Given the description of an element on the screen output the (x, y) to click on. 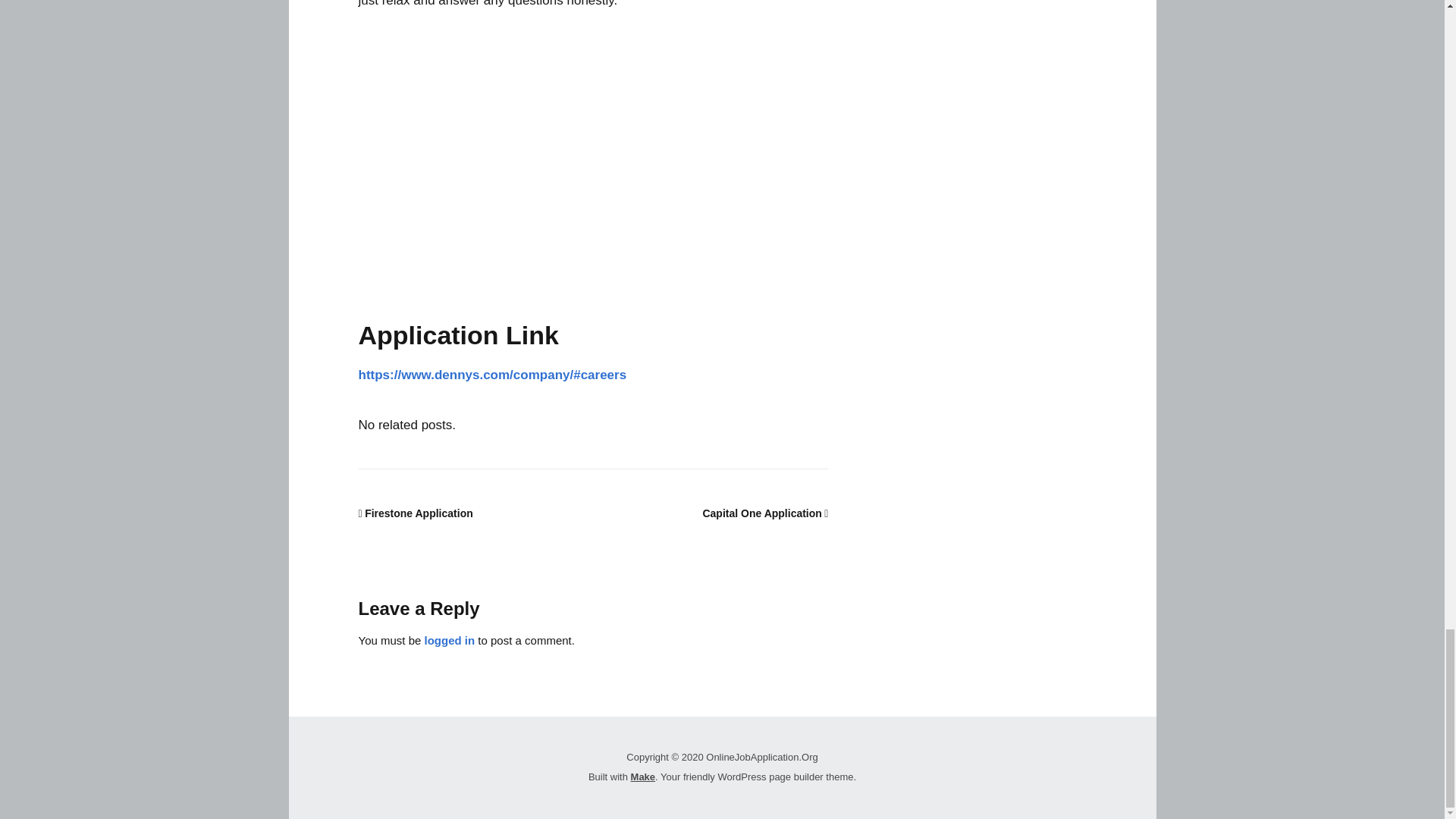
Firestone Application (414, 512)
Capital One Application (764, 512)
logged in (450, 640)
Make (643, 776)
